Given the description of an element on the screen output the (x, y) to click on. 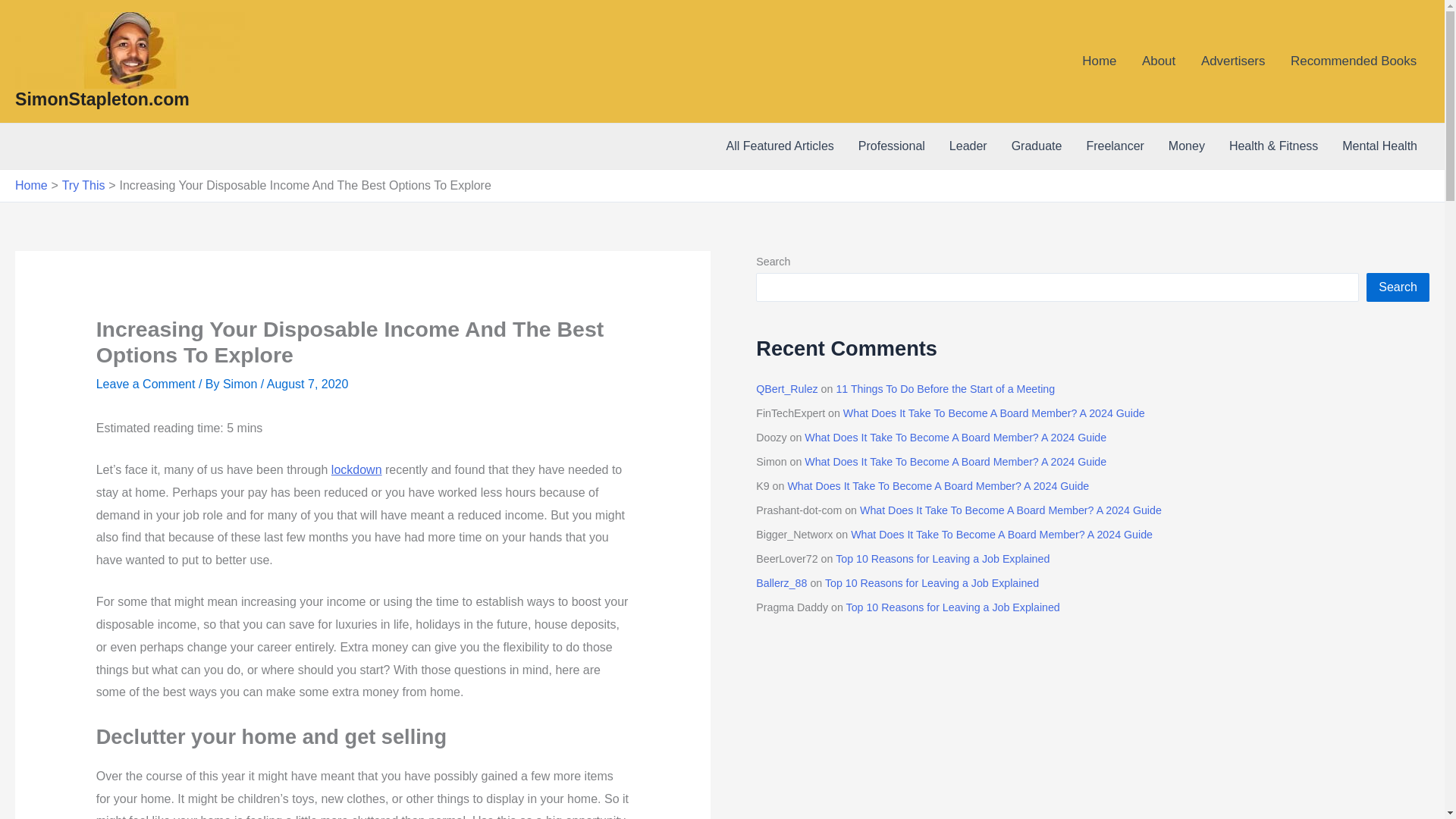
About (1158, 61)
Advertisers (1233, 61)
All Featured Articles (779, 145)
Leave a Comment (145, 383)
View all posts by Simon (241, 383)
Leader (967, 145)
lockdown (356, 469)
Try This (83, 185)
SimonStapleton.com (101, 98)
Professional (891, 145)
Graduate (1036, 145)
Simon (241, 383)
Search (1398, 287)
Mental Health (1379, 145)
Recommended Books (1353, 61)
